Given the description of an element on the screen output the (x, y) to click on. 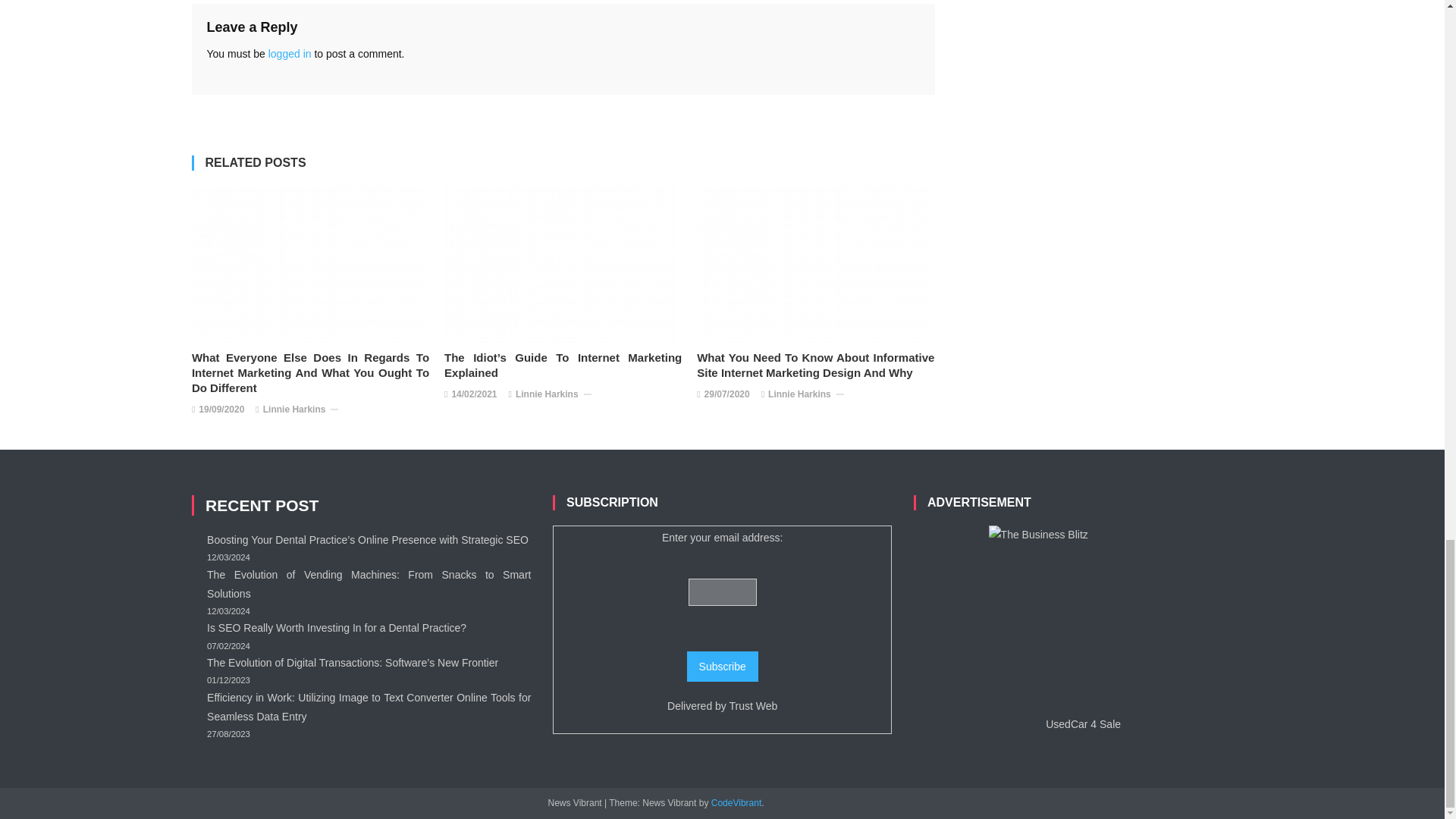
Subscribe (722, 666)
logged in (289, 53)
Linnie Harkins (546, 394)
The Idiot's Guide To Internet Marketing Explained (559, 264)
Linnie Harkins (294, 410)
Linnie Harkins (799, 394)
